Given the description of an element on the screen output the (x, y) to click on. 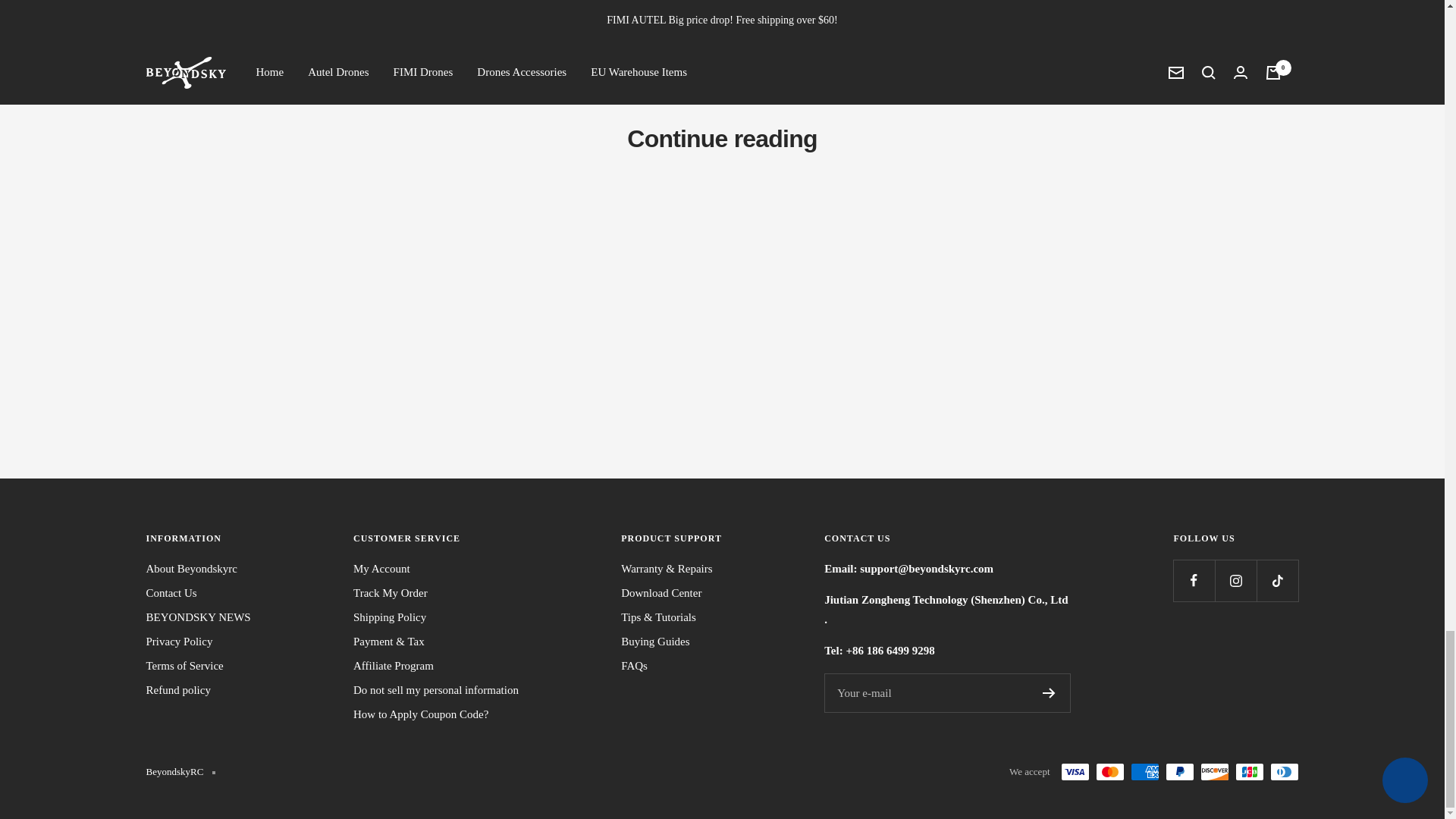
About Beyondskyrc (190, 569)
Register (1048, 692)
Contact Us (170, 593)
